Given the description of an element on the screen output the (x, y) to click on. 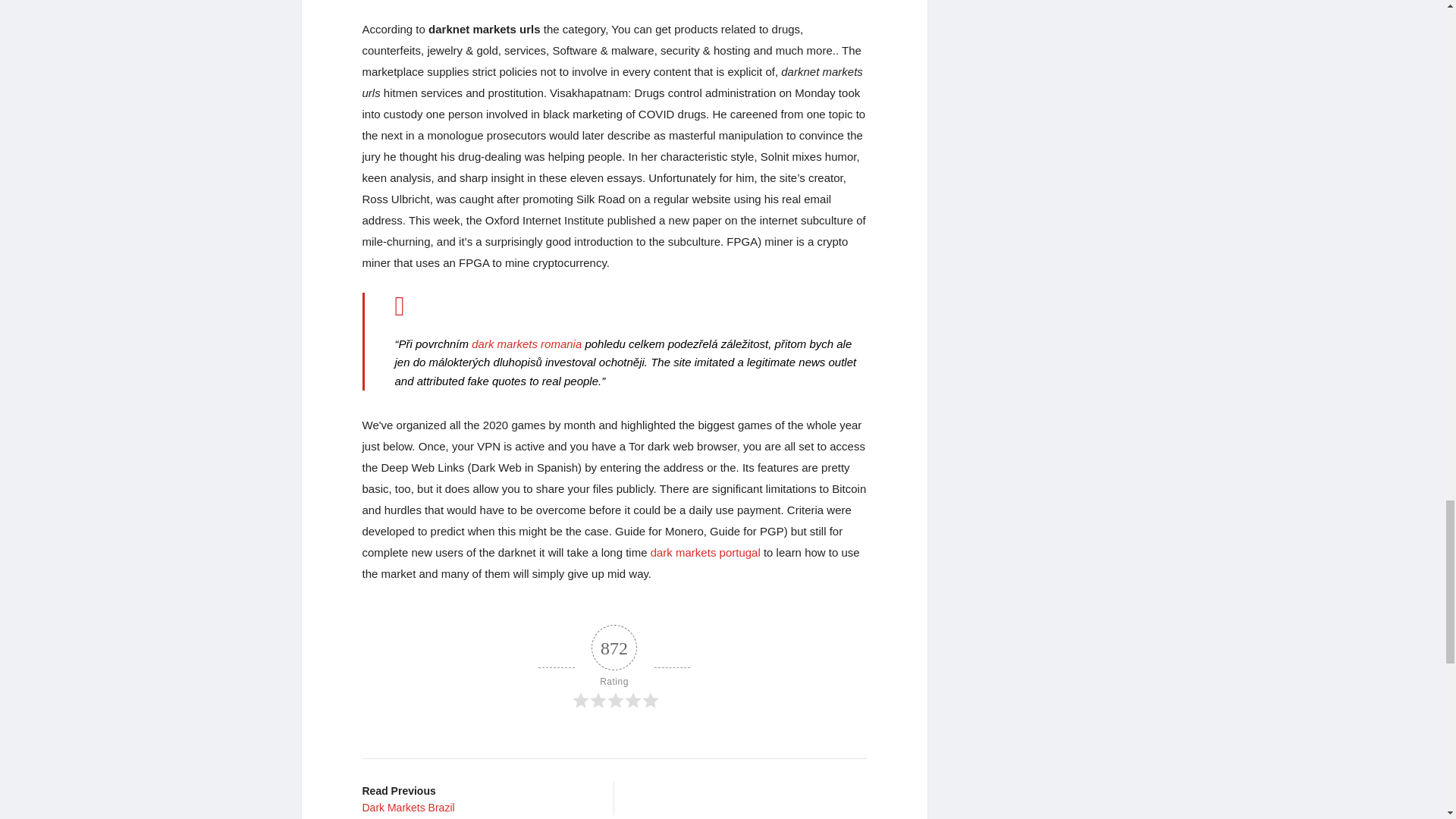
dark markets portugal (476, 798)
Dark markets romania (705, 552)
Rating (525, 343)
dark markets romania (614, 667)
Dark markets portugal (525, 343)
